Given the description of an element on the screen output the (x, y) to click on. 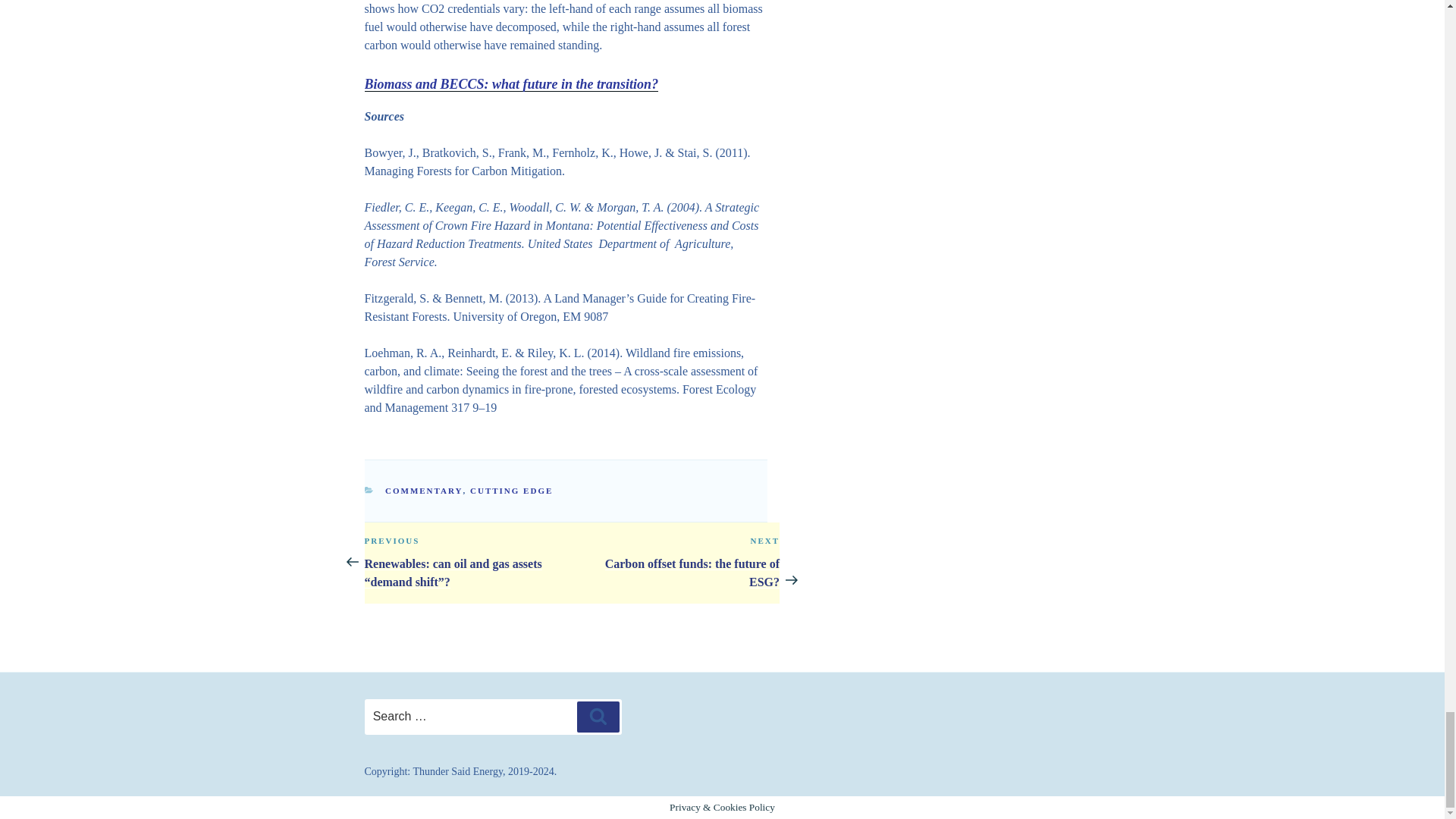
Biomass and BECCS: what future in the transition? (675, 561)
COMMENTARY (511, 83)
CUTTING EDGE (424, 490)
